Given the description of an element on the screen output the (x, y) to click on. 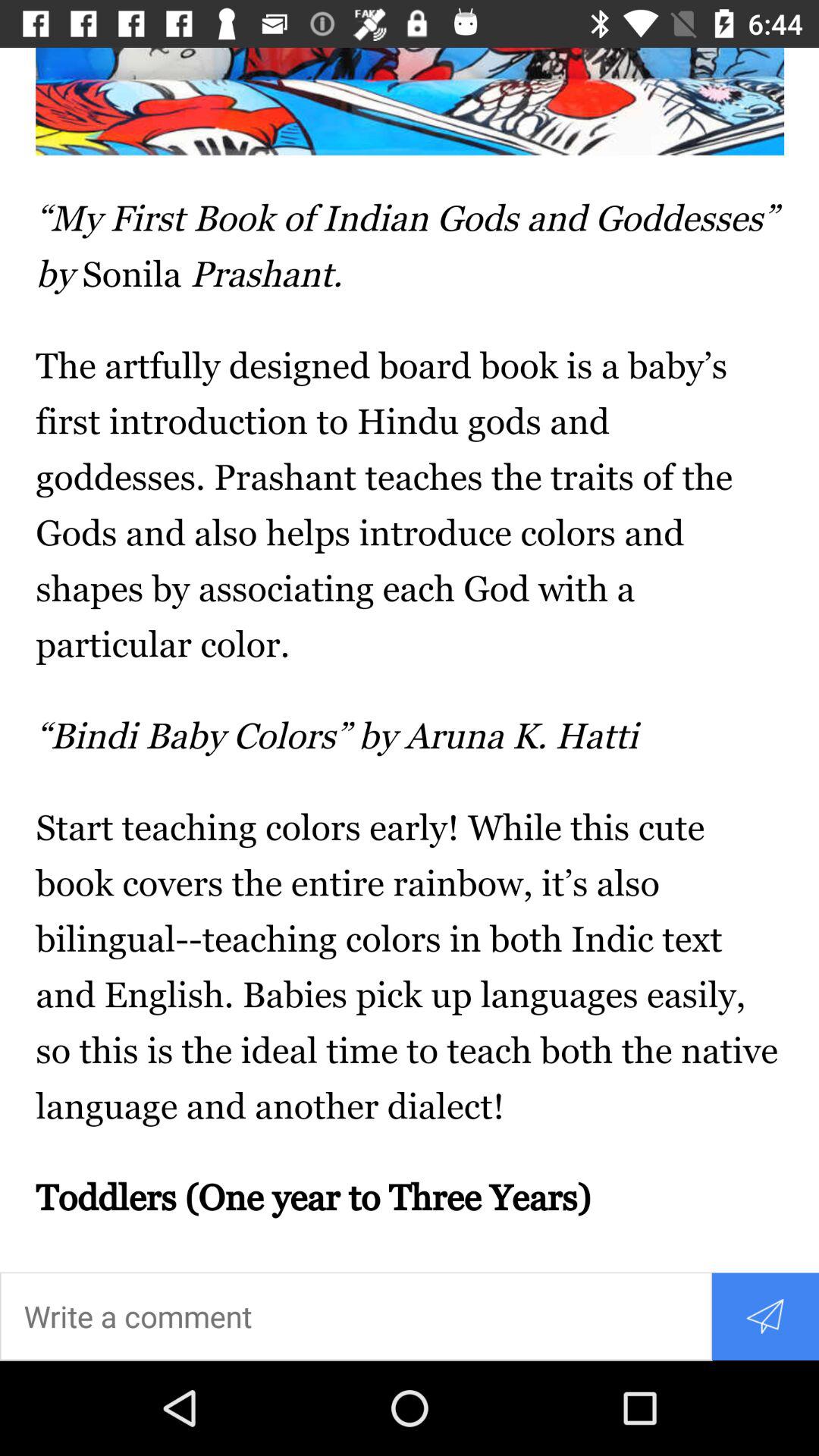
enter (356, 1316)
